Given the description of an element on the screen output the (x, y) to click on. 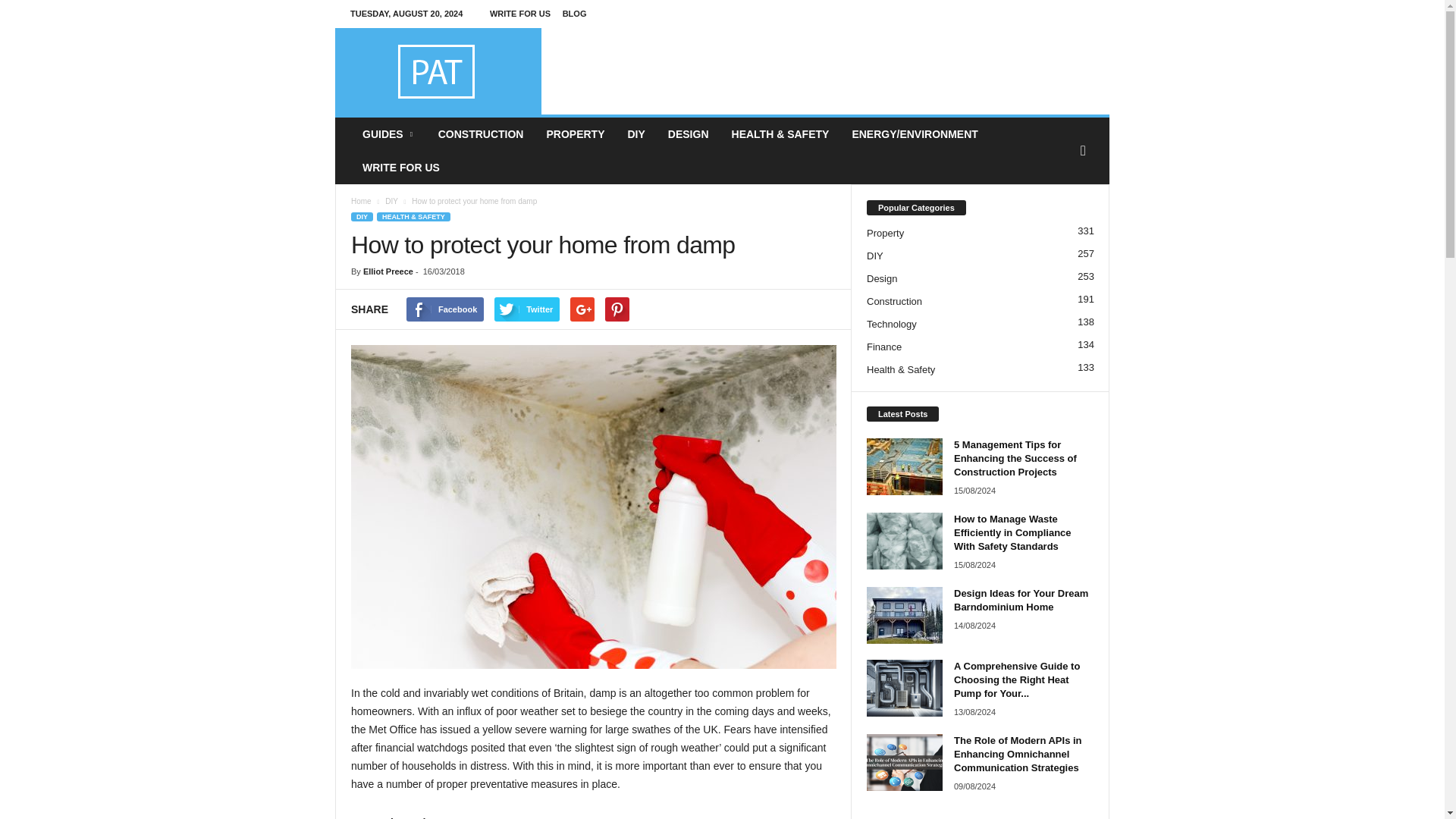
PAT Testing (437, 70)
PAT Testing (438, 70)
View all posts in DIY (391, 201)
GUIDES (388, 133)
WRITE FOR US (519, 13)
BLOG (574, 13)
